Given the description of an element on the screen output the (x, y) to click on. 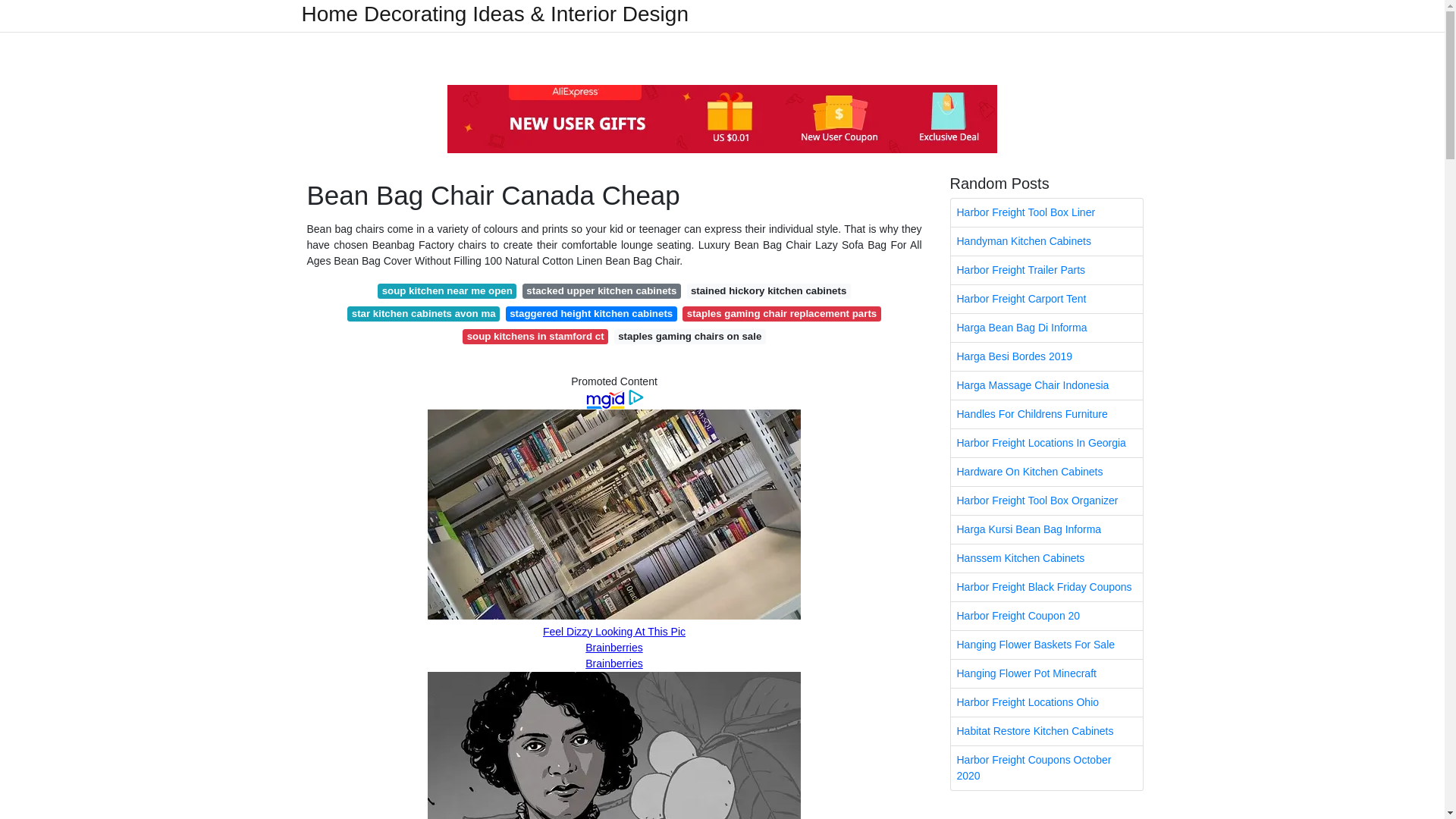
staples gaming chairs on sale (689, 336)
staples gaming chair replacement parts (781, 313)
Harbor Freight Tool Box Liner (1046, 212)
Harbor Freight Locations In Georgia (1046, 443)
staggered height kitchen cabinets (591, 313)
soup kitchens in stamford ct (535, 336)
Harga Bean Bag Di Informa (1046, 327)
soup kitchen near me open (446, 290)
stained hickory kitchen cabinets (768, 290)
Handyman Kitchen Cabinets (1046, 241)
stacked upper kitchen cabinets (601, 290)
Harga Besi Bordes 2019 (1046, 357)
Harga Massage Chair Indonesia (1046, 385)
Harbor Freight Trailer Parts (1046, 270)
star kitchen cabinets avon ma (423, 313)
